Given the description of an element on the screen output the (x, y) to click on. 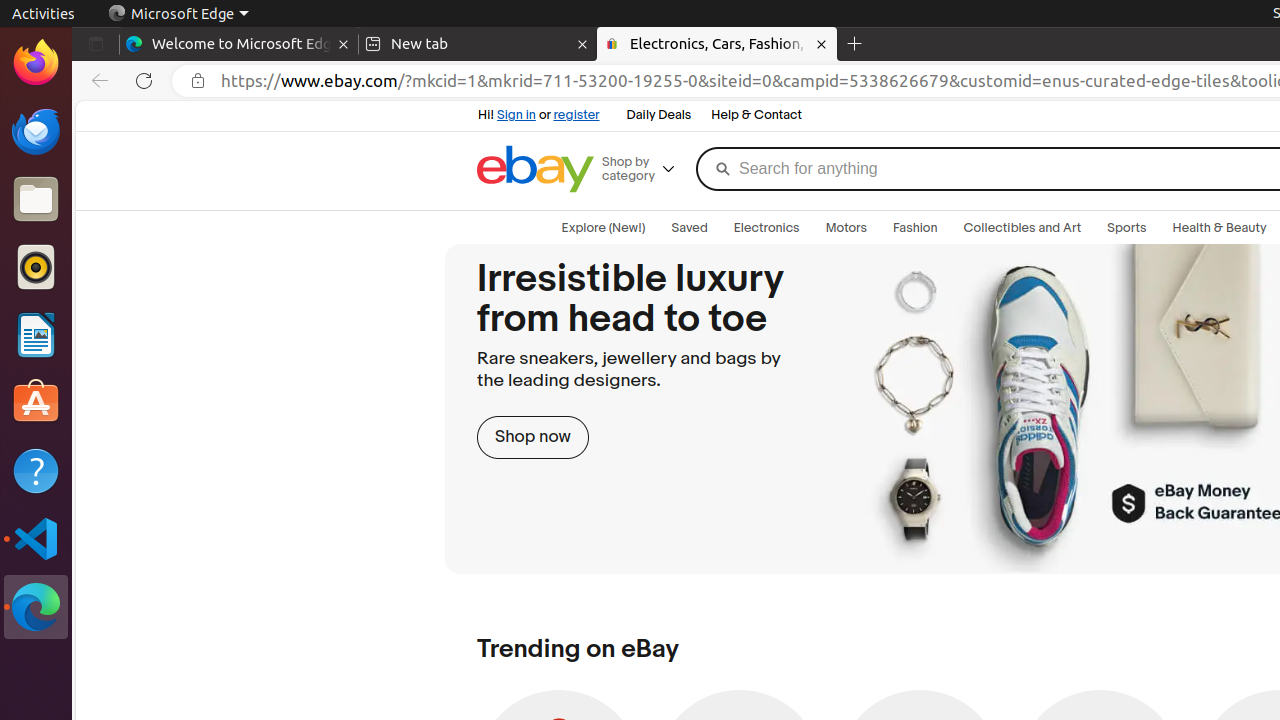
Back Element type: push-button (96, 81)
Visual Studio Code Element type: push-button (36, 538)
Refresh Element type: push-button (144, 81)
Files Element type: push-button (36, 199)
Motors Element type: link (846, 228)
